Given the description of an element on the screen output the (x, y) to click on. 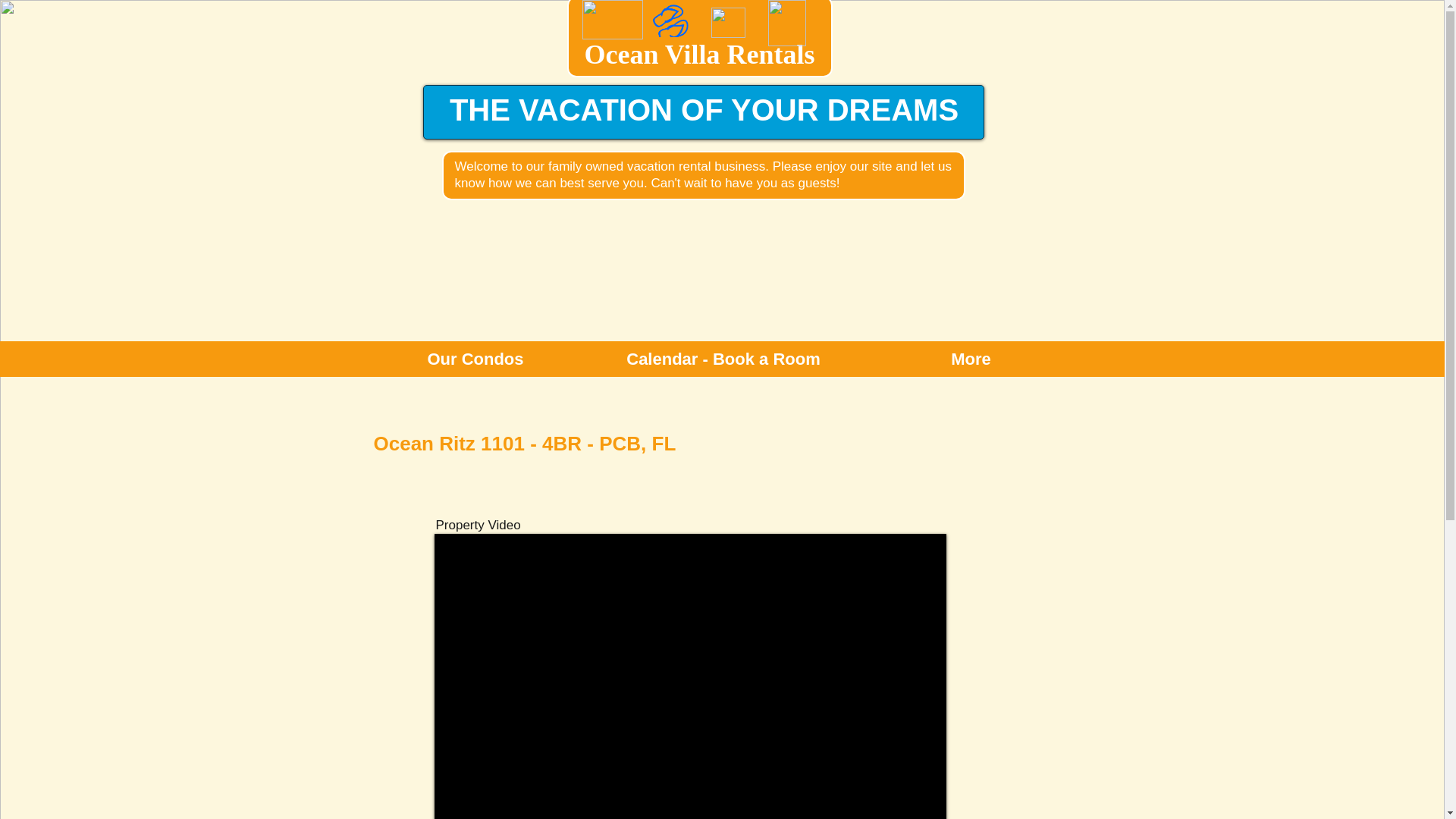
Calendar - Book a Room (722, 358)
Our Condos (475, 358)
